Given the description of an element on the screen output the (x, y) to click on. 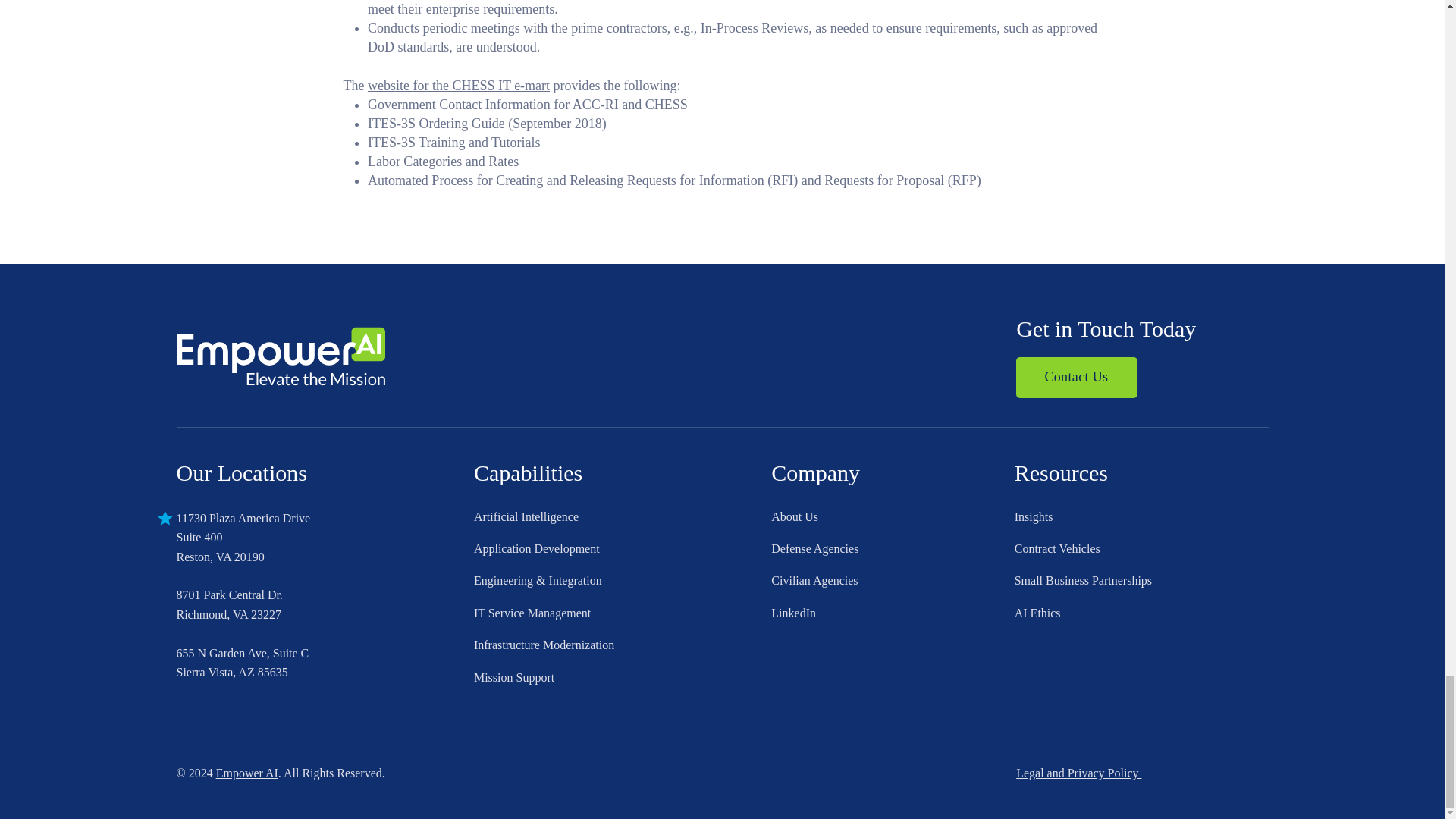
About Us (892, 517)
IT Service Management (622, 613)
11730 Plaza America Drive (243, 517)
Artificial Intelligence (622, 517)
Mission Support (622, 677)
Infrastructure Modernization (219, 546)
Application Development (622, 644)
website for the CHESS IT e-mart (622, 549)
